Given the description of an element on the screen output the (x, y) to click on. 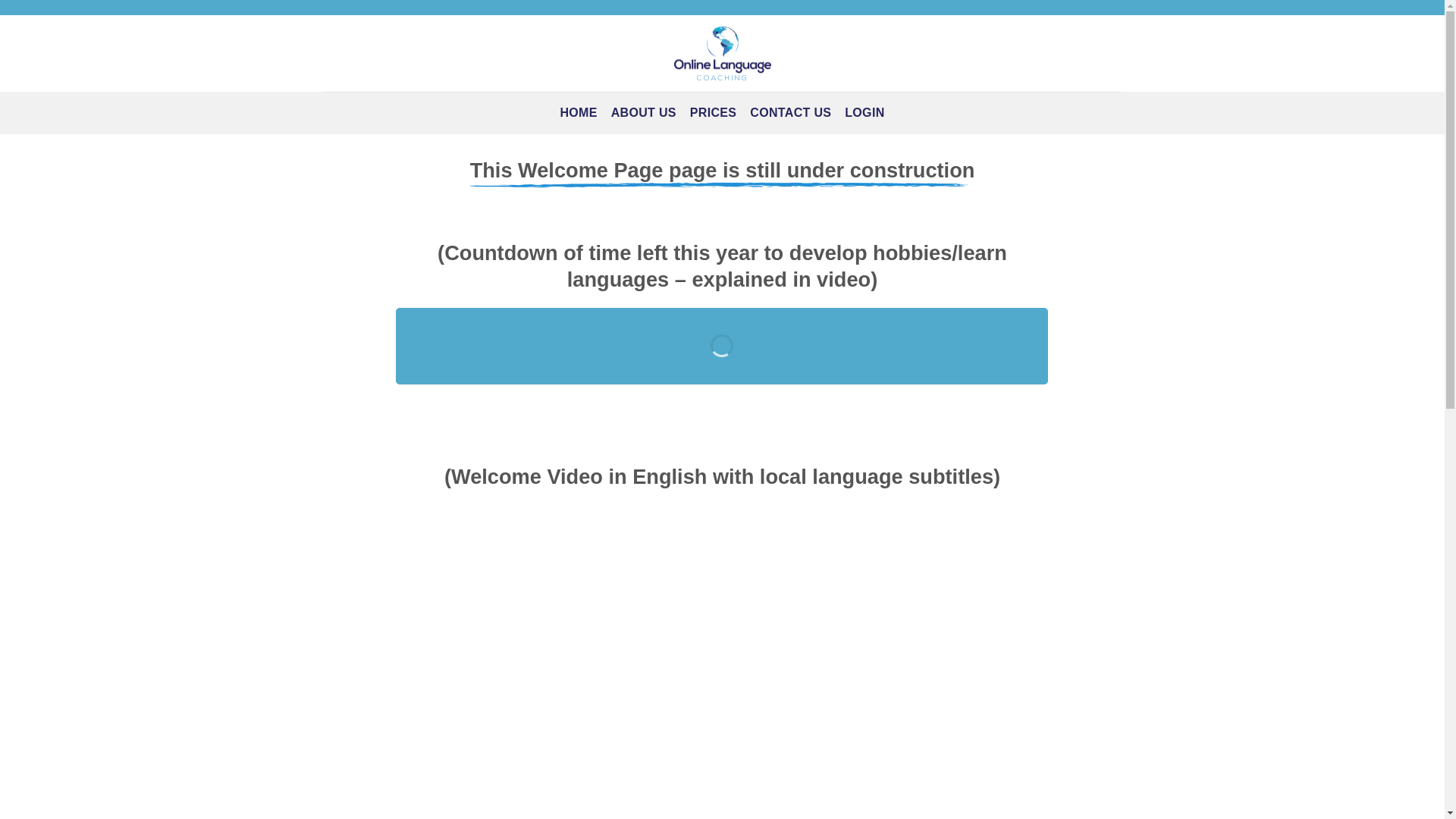
PRICES (713, 112)
LOGIN (863, 112)
CONTACT US (790, 112)
ABOUT US (644, 112)
Online Language Coaching (721, 53)
